Given the description of an element on the screen output the (x, y) to click on. 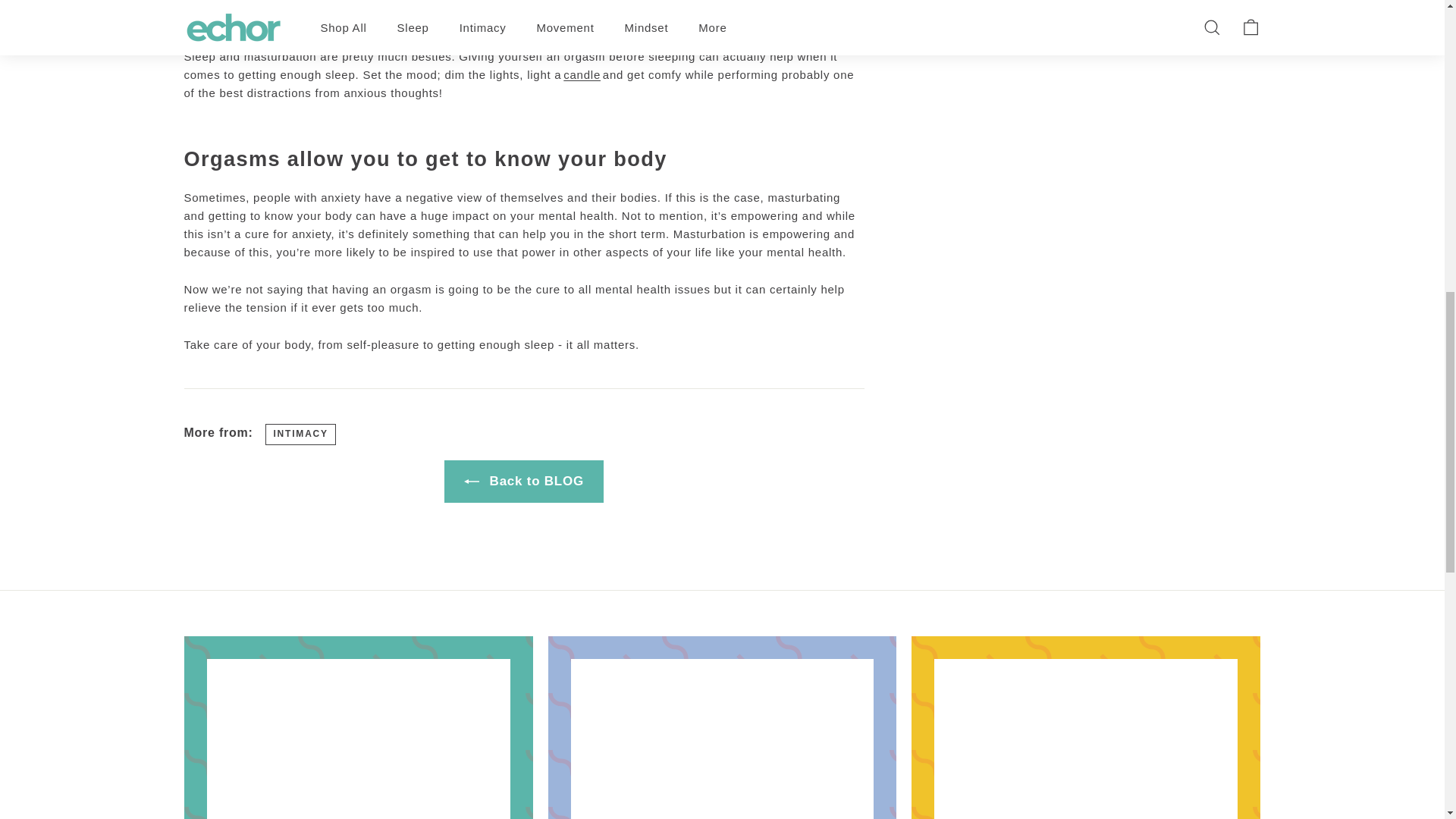
Share on Facebook (962, 11)
Tweet on Twitter (1035, 11)
Pin on Pinterest (1107, 11)
